Given the description of an element on the screen output the (x, y) to click on. 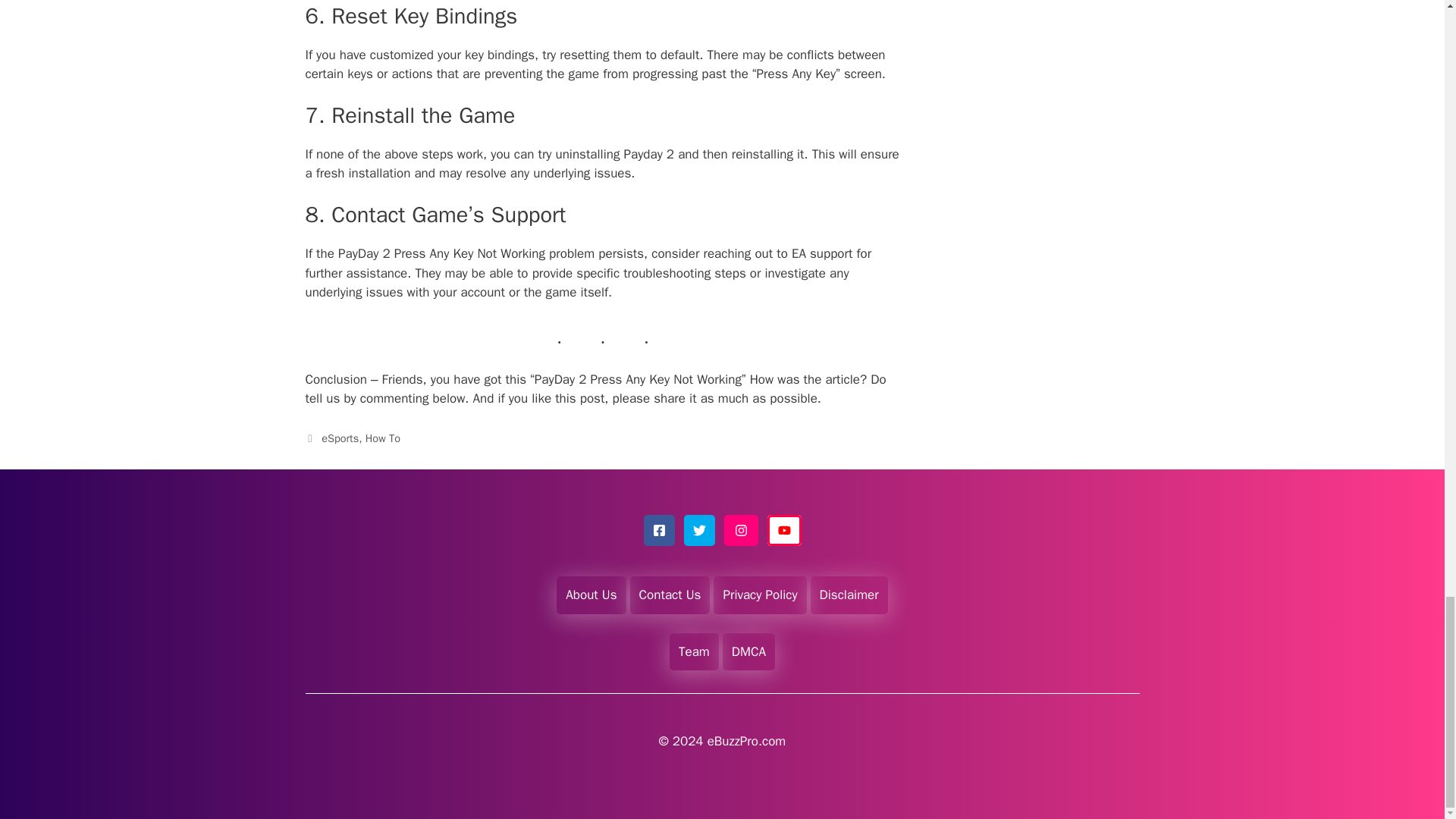
Disclaimer (849, 594)
Team (694, 651)
Privacy Policy (759, 594)
eSports (339, 438)
About Us (590, 594)
How To (382, 438)
Contact Us (670, 594)
DMCA (748, 651)
